Given the description of an element on the screen output the (x, y) to click on. 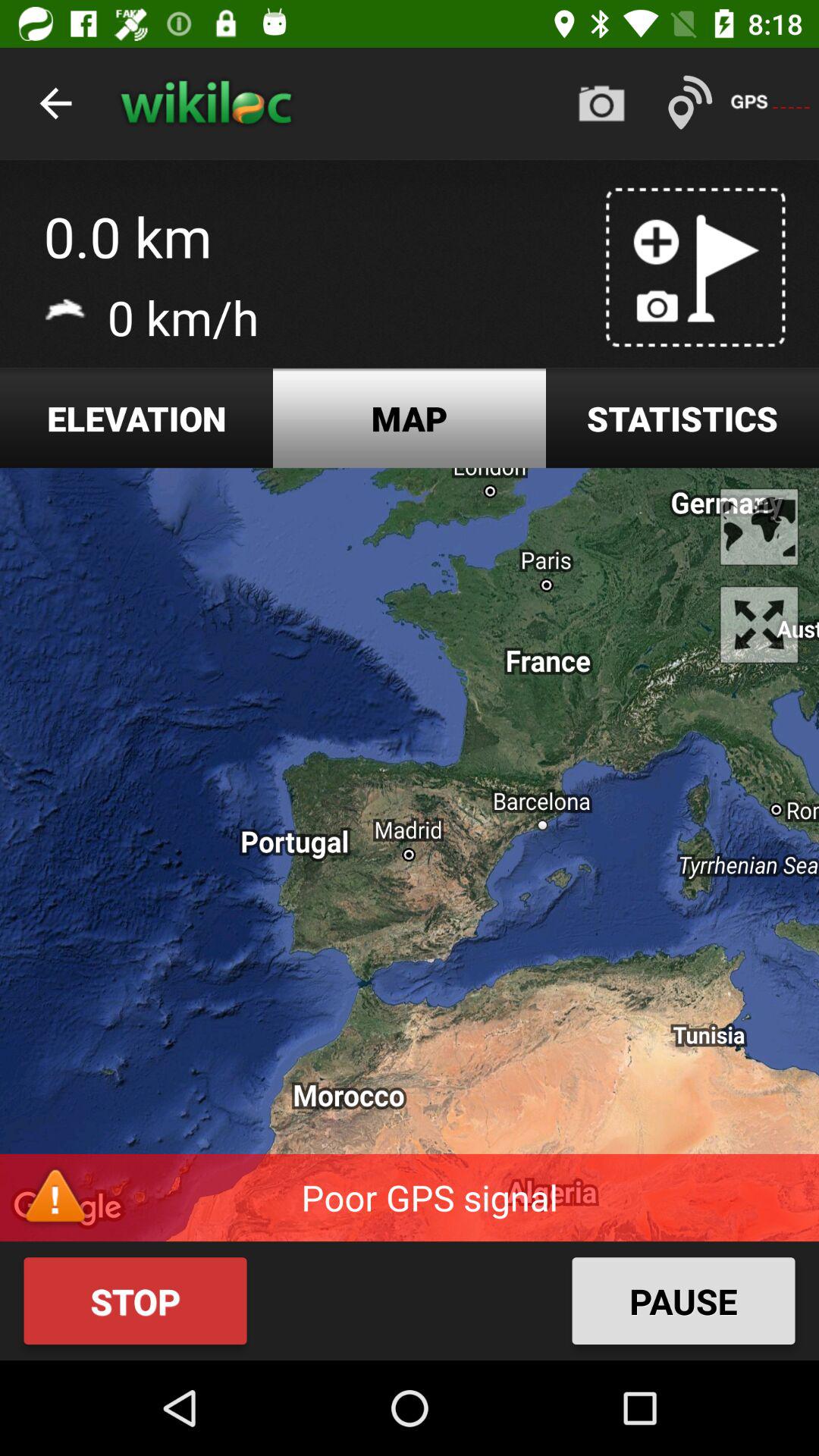
turn on item next to the stop icon (683, 1300)
